Given the description of an element on the screen output the (x, y) to click on. 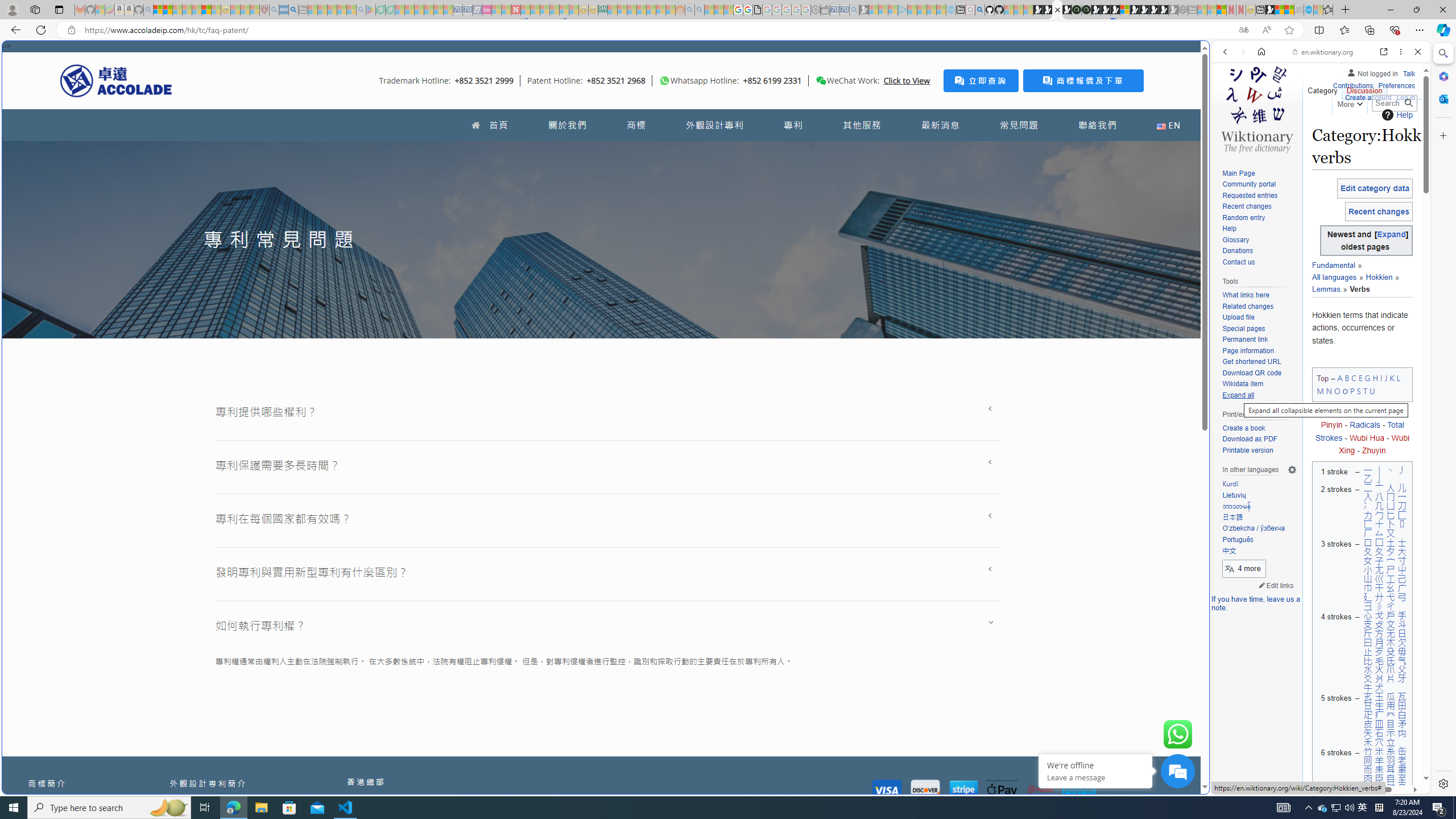
Wikidata item (1259, 383)
